Given the description of an element on the screen output the (x, y) to click on. 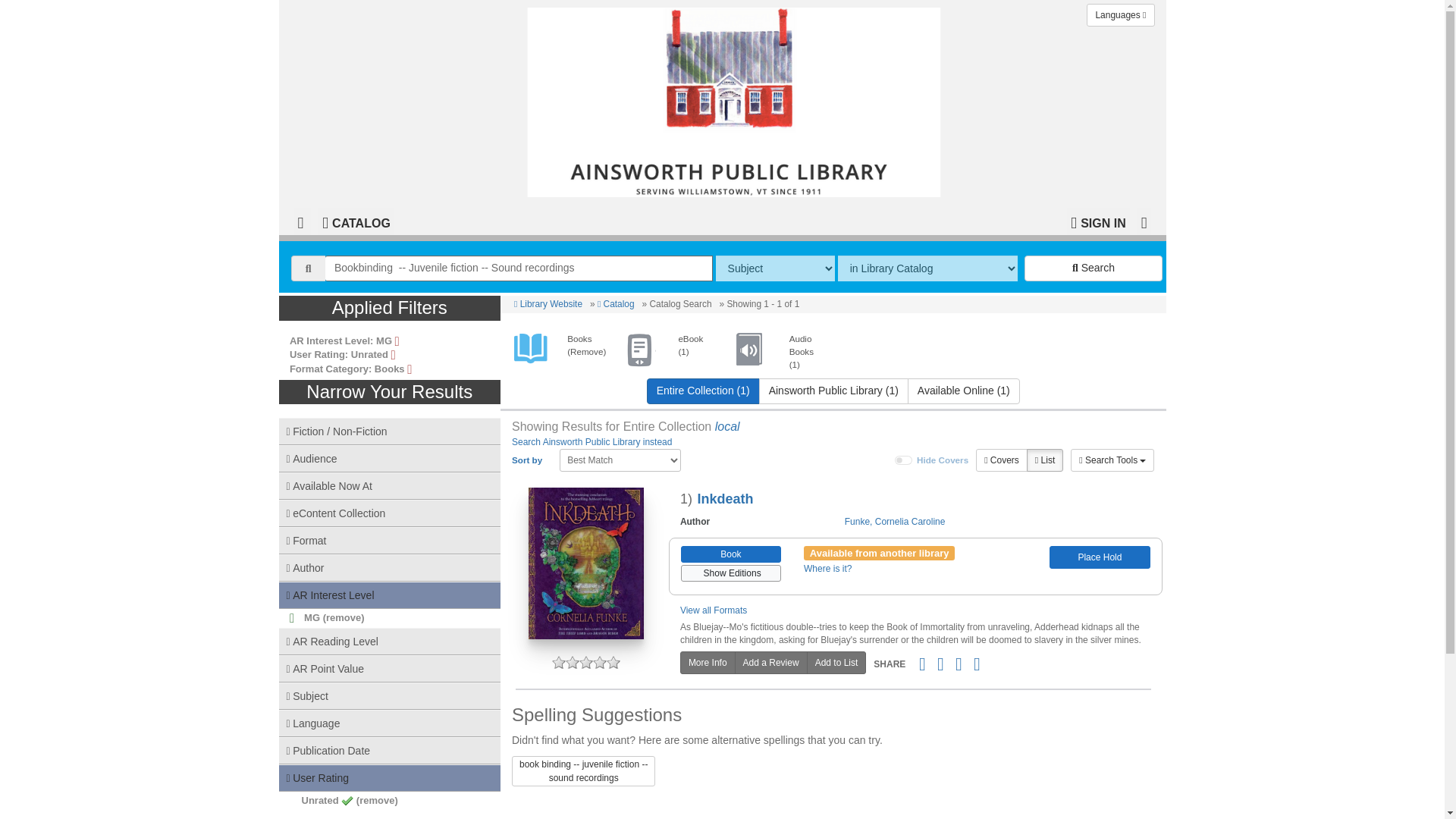
Catalog (615, 303)
on (903, 460)
CATALOG (356, 221)
 Search (1093, 268)
Browse the Catalog (356, 221)
Return to Library Website (547, 303)
Browse the catalog (615, 303)
Library Website (547, 303)
